Given the description of an element on the screen output the (x, y) to click on. 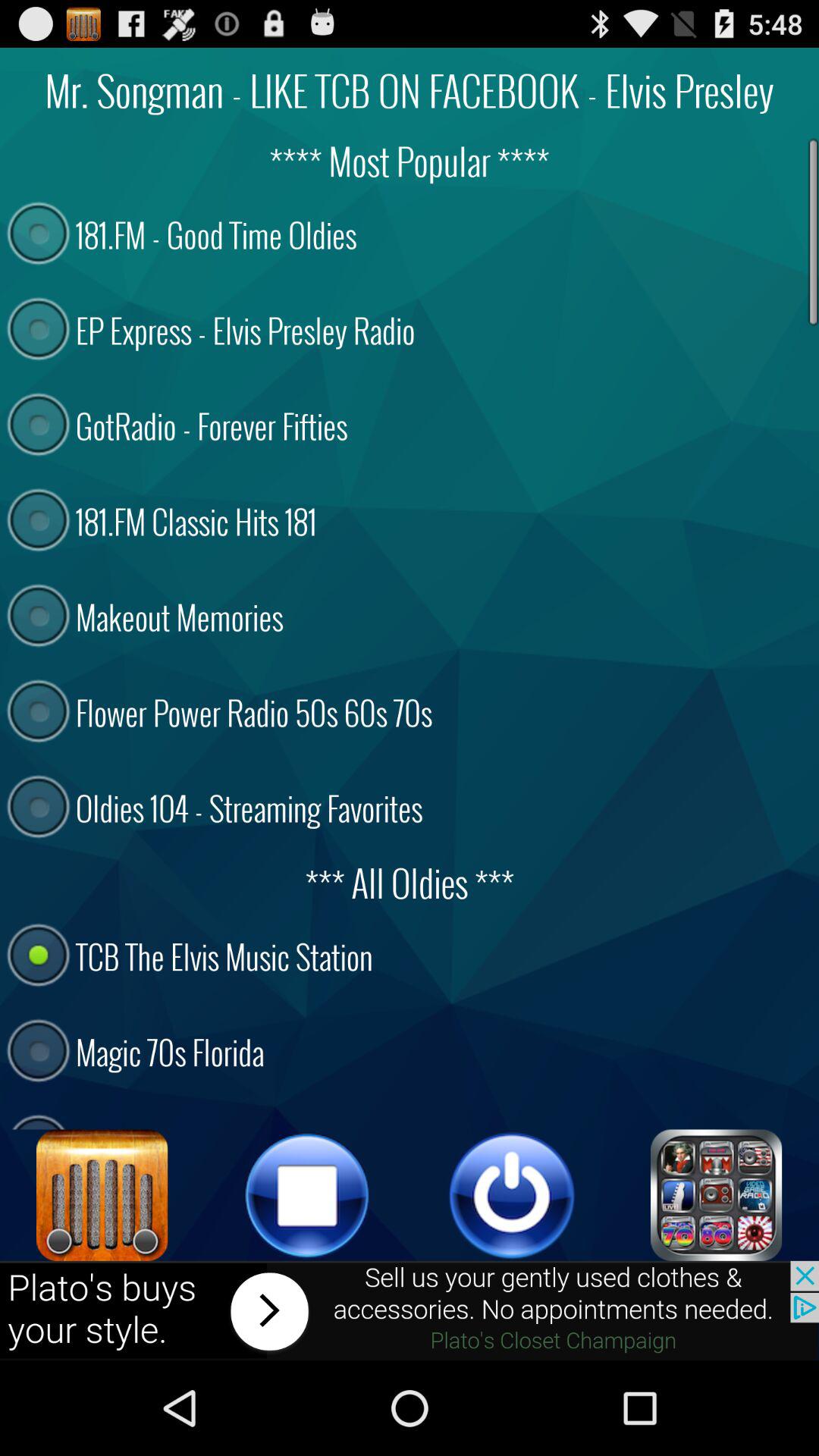
go to pause button (306, 1194)
